Given the description of an element on the screen output the (x, y) to click on. 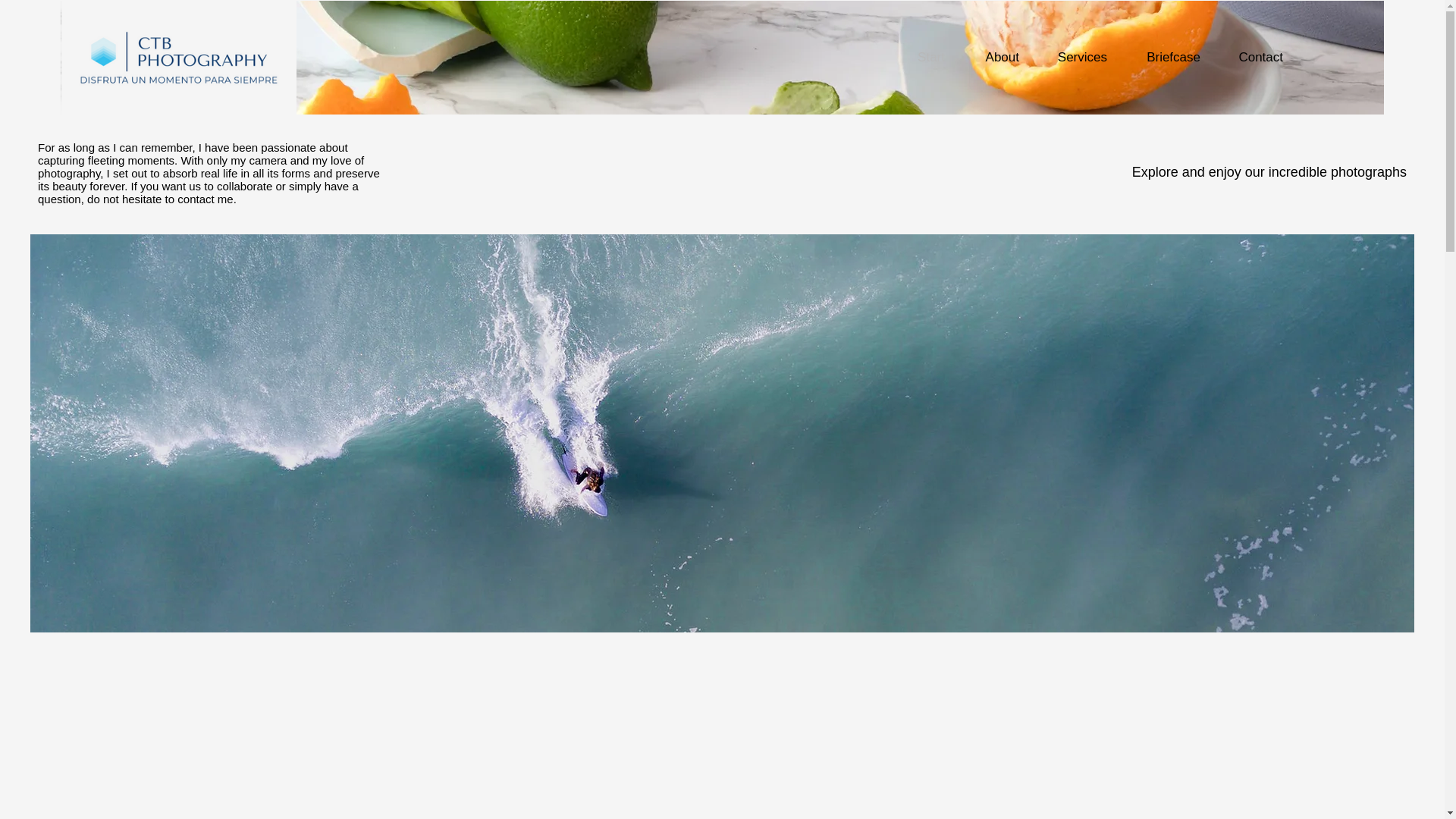
Services (1074, 57)
About (993, 57)
Homepage (179, 57)
Start (922, 57)
Contact (1252, 57)
Briefcase (1164, 57)
